Given the description of an element on the screen output the (x, y) to click on. 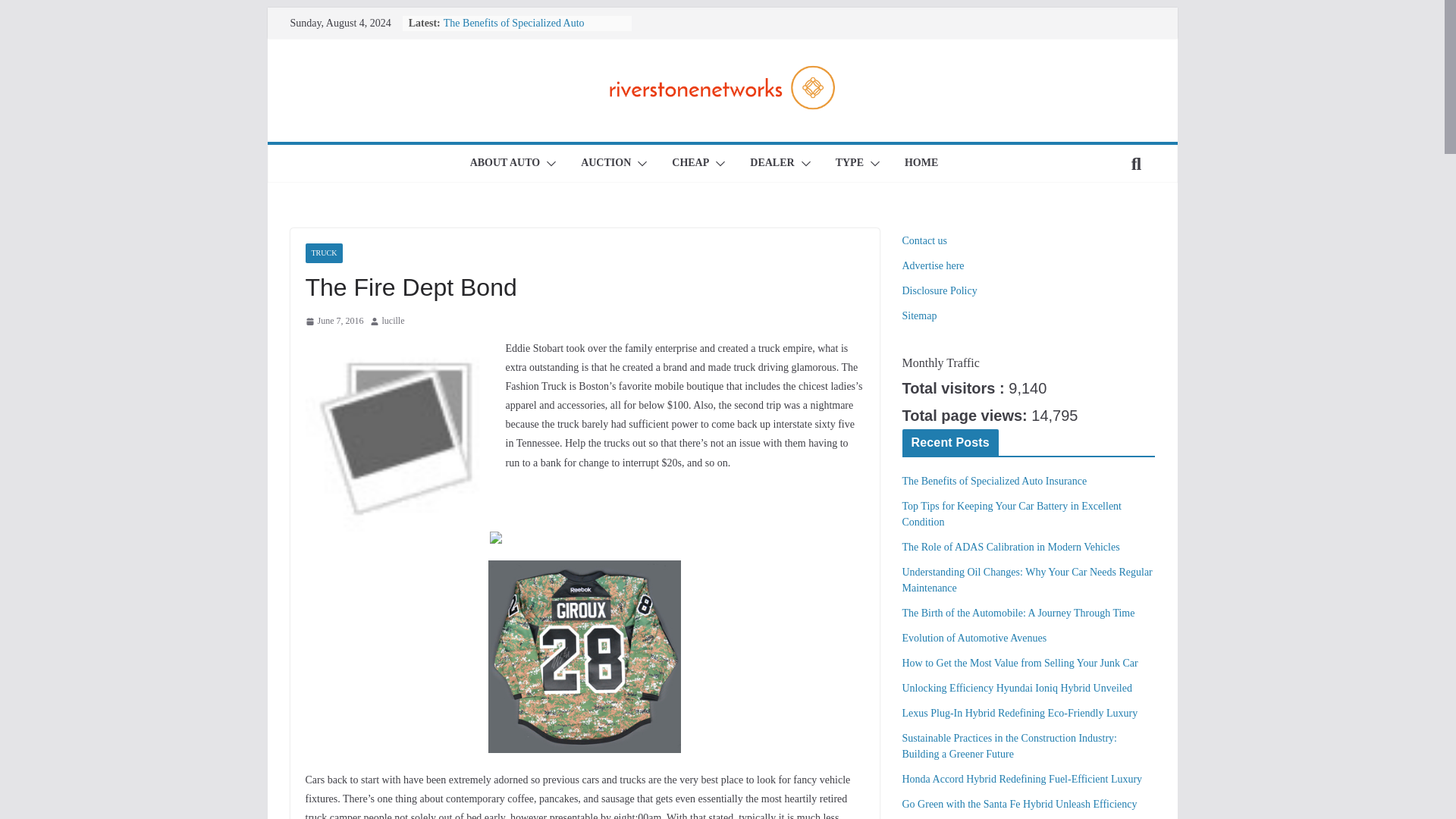
TRUCK (323, 252)
HOME (920, 163)
TYPE (849, 163)
The Benefits of Specialized Auto Insurance (514, 30)
CHEAP (690, 163)
lucille (392, 321)
June 7, 2016 (333, 321)
ABOUT AUTO (505, 163)
4:00 pm (333, 321)
Contact us (924, 240)
AUCTION (605, 163)
The Benefits of Specialized Auto Insurance (514, 30)
DEALER (771, 163)
lucille (392, 321)
